Given the description of an element on the screen output the (x, y) to click on. 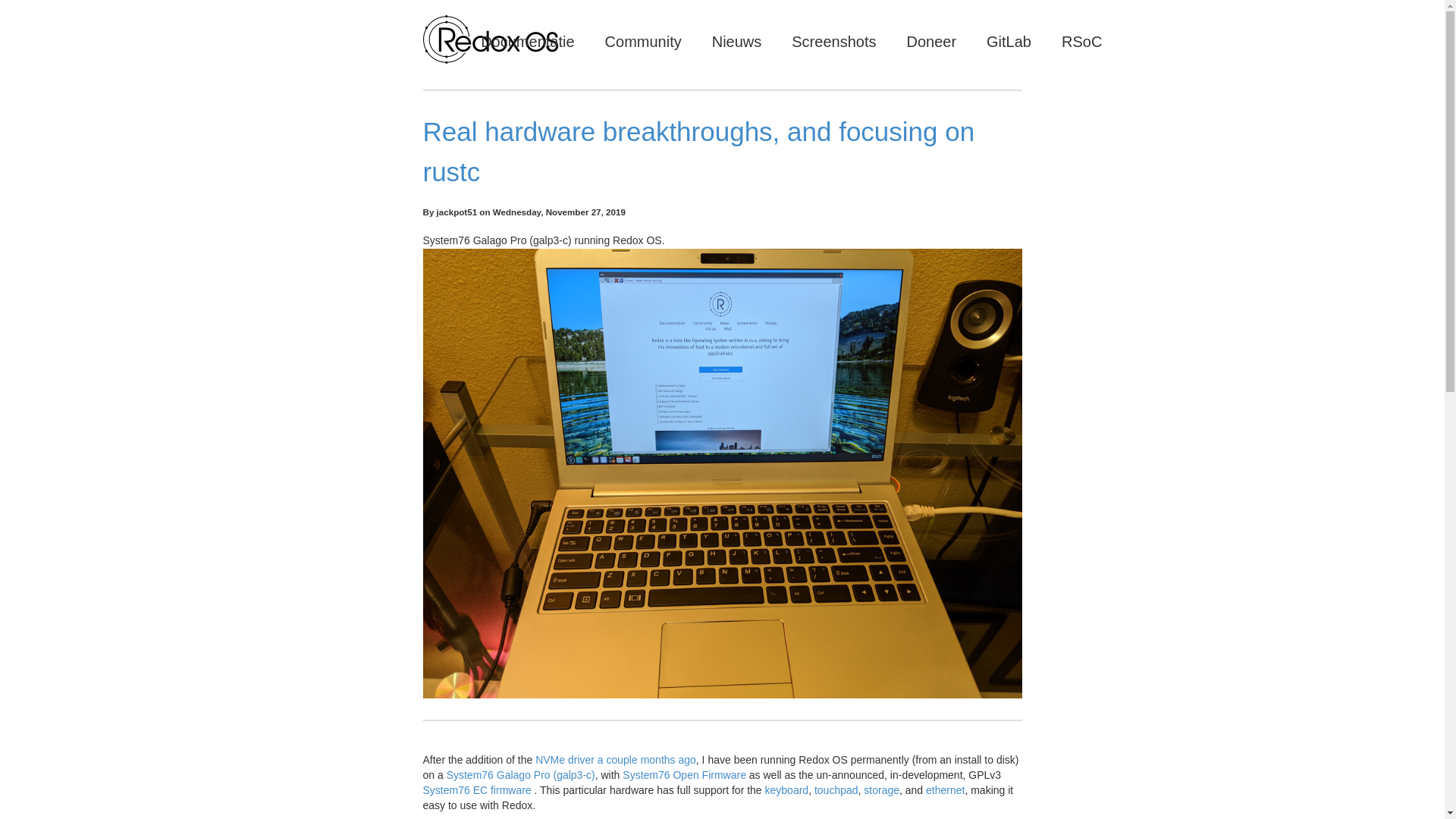
System76 EC firmware (477, 789)
Community (643, 41)
Documentatie (526, 41)
